Given the description of an element on the screen output the (x, y) to click on. 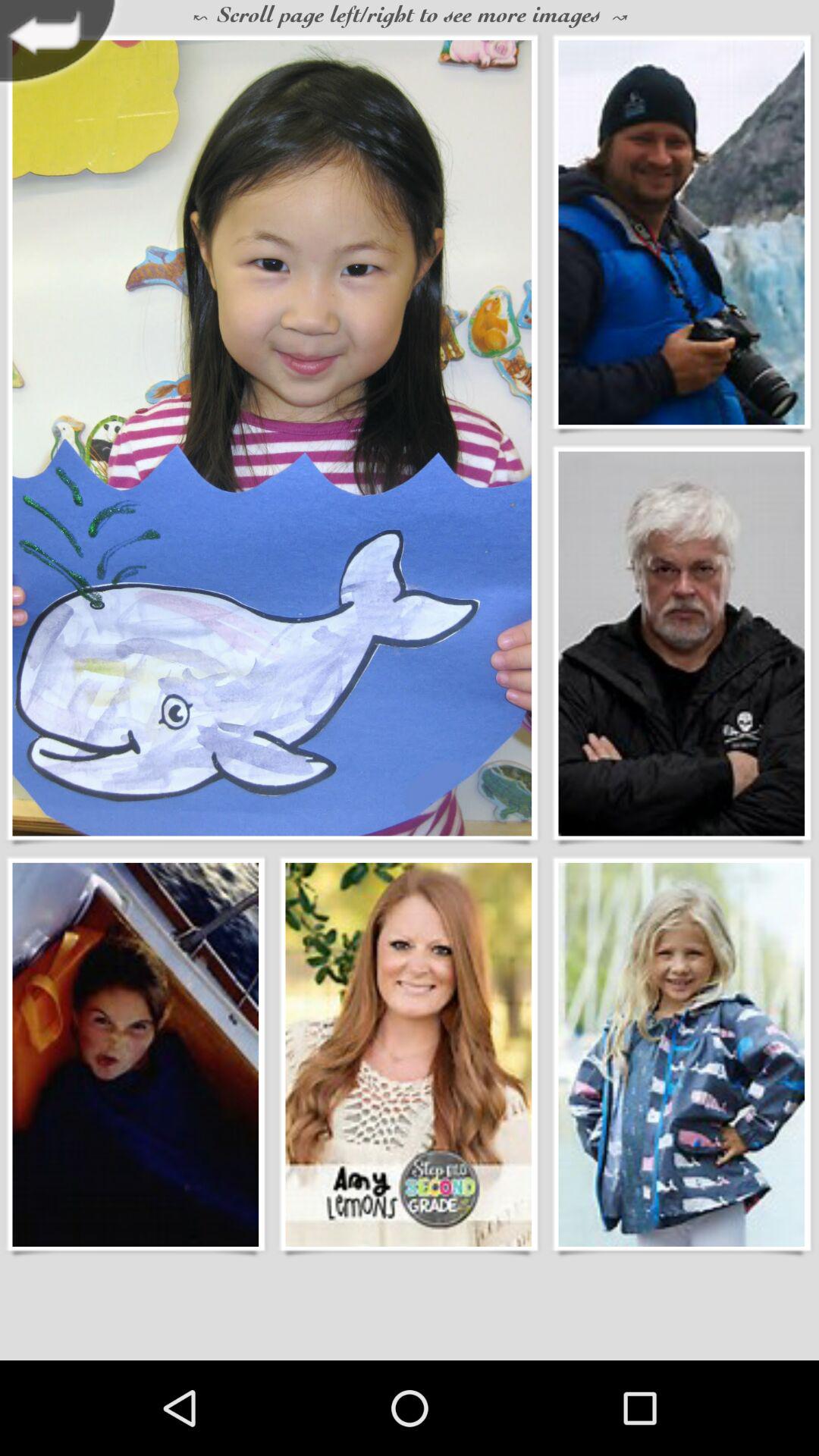
previous page (62, 45)
